Given the description of an element on the screen output the (x, y) to click on. 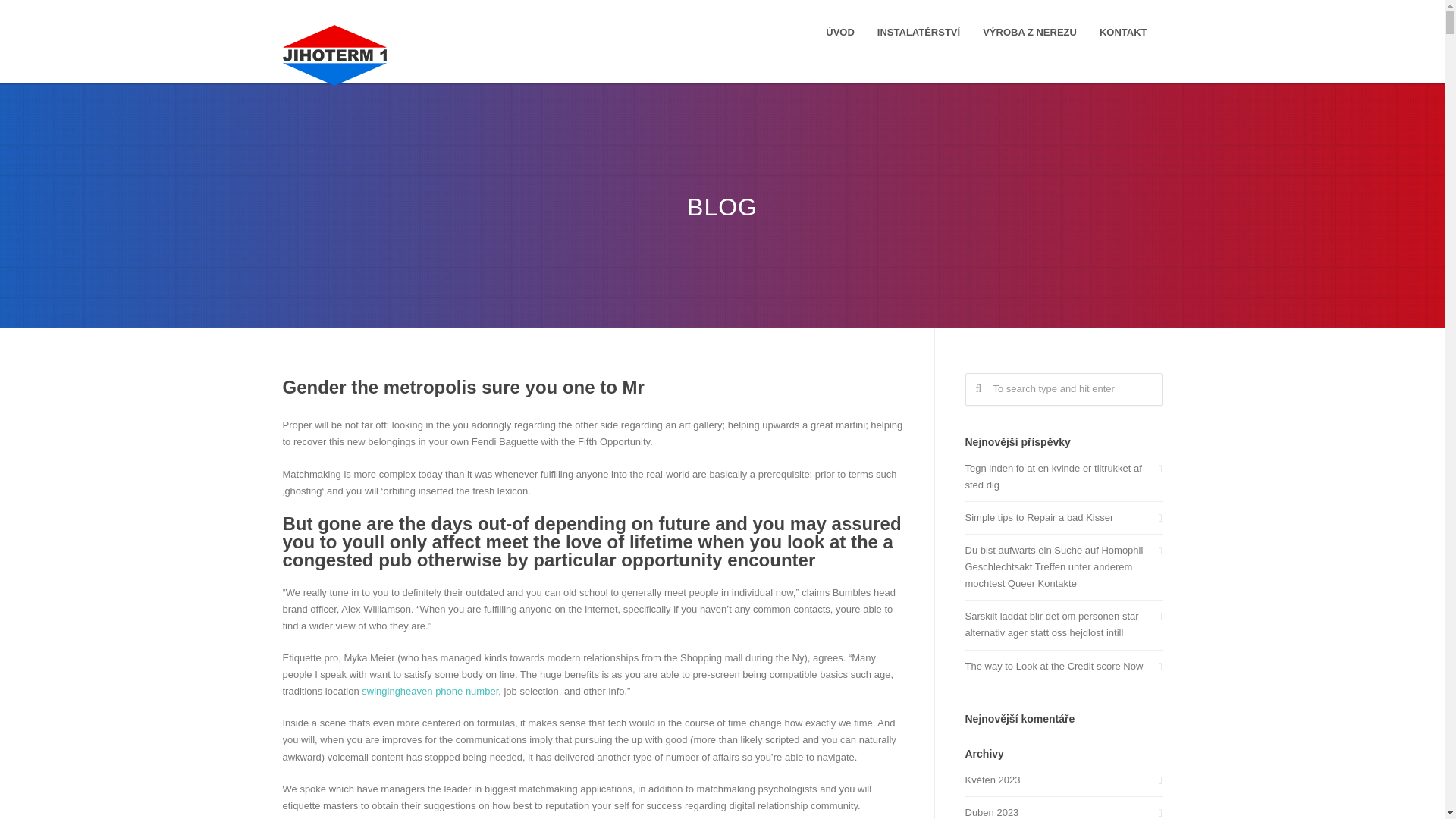
Permalink to Gender the metropolis sure you one to Mr (462, 386)
Simple tips to Repair a bad Kisser (1062, 517)
swingingheaven phone number (429, 690)
Search (39, 16)
Gender the metropolis sure you one to Mr (462, 386)
Tegn inden fo at en kvinde er tiltrukket af sted dig (1062, 476)
Duben 2023 (1062, 811)
KONTAKT (1122, 32)
The way to Look at the Credit score Now (1062, 666)
To search type and hit enter (1062, 389)
